Given the description of an element on the screen output the (x, y) to click on. 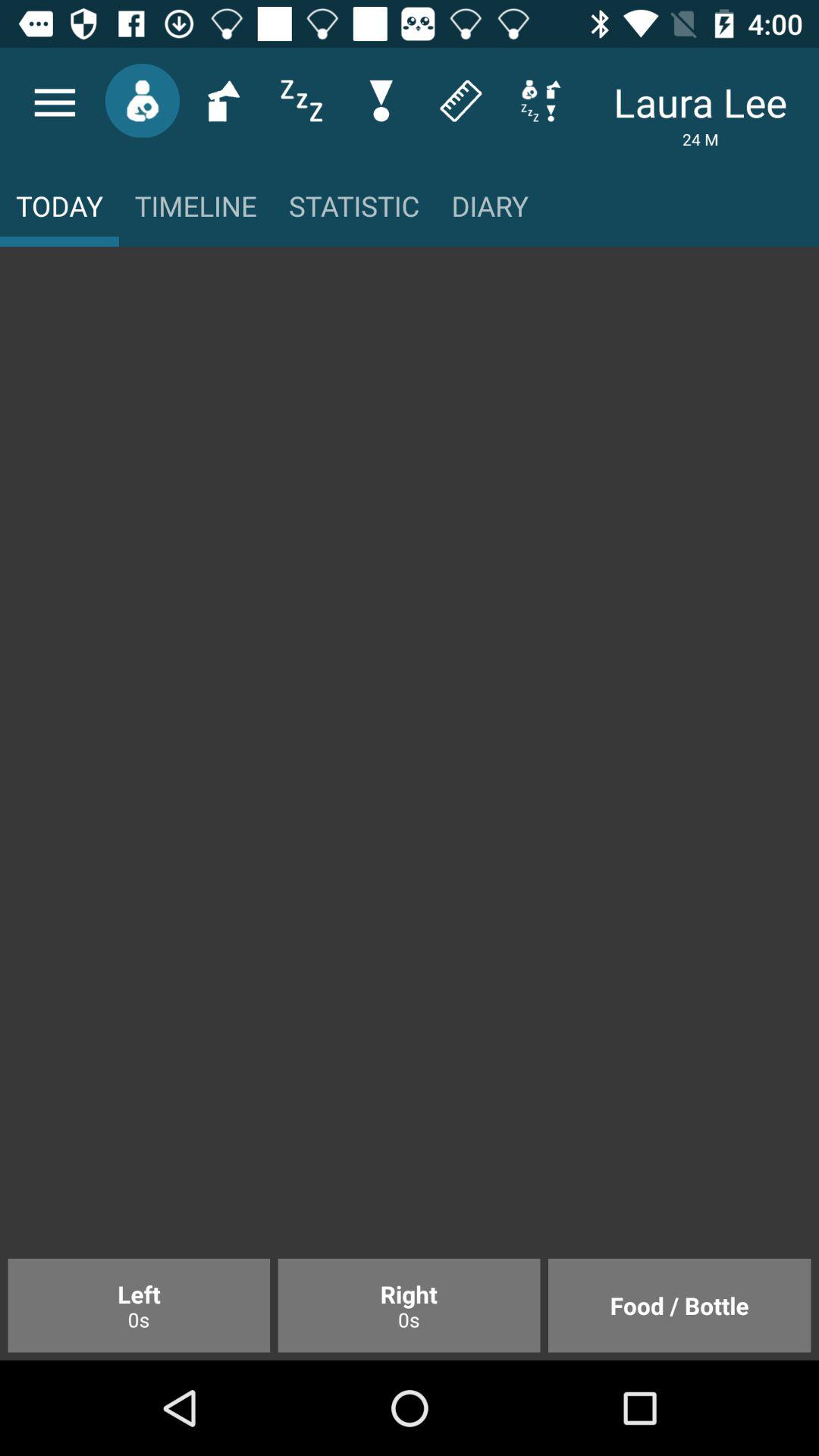
launch icon next to the right
0s icon (679, 1305)
